Given the description of an element on the screen output the (x, y) to click on. 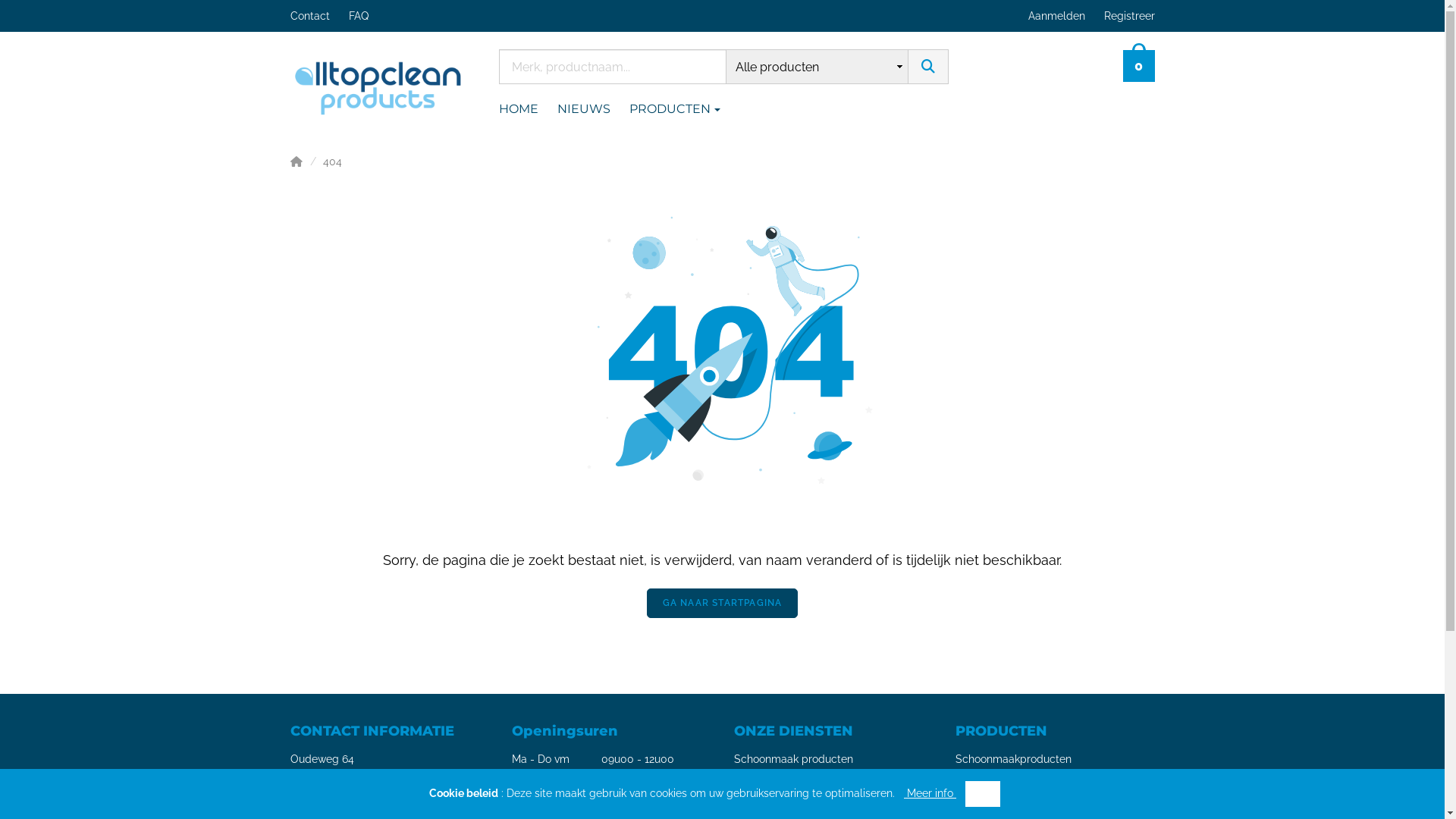
All top clean products Element type: hover (376, 84)
GA NAAR STARTPAGINA Element type: text (722, 603)
Meer info Element type: text (929, 793)
OK Element type: text (982, 793)
Hulpmiddelen en bescherming Element type: text (1032, 807)
NIEUWS Element type: text (593, 109)
FAQ Element type: text (367, 15)
Reinigingsmachine en Accessoires Element type: text (1040, 783)
011 73 64 40 Element type: text (319, 799)
Registreer Element type: text (1131, 15)
Schoonmaakproducten Element type: text (1013, 759)
HOME Element type: text (527, 109)
Aanmelden Element type: text (1058, 15)
Contact Element type: text (318, 15)
PRODUCTEN Element type: text (684, 109)
